Given the description of an element on the screen output the (x, y) to click on. 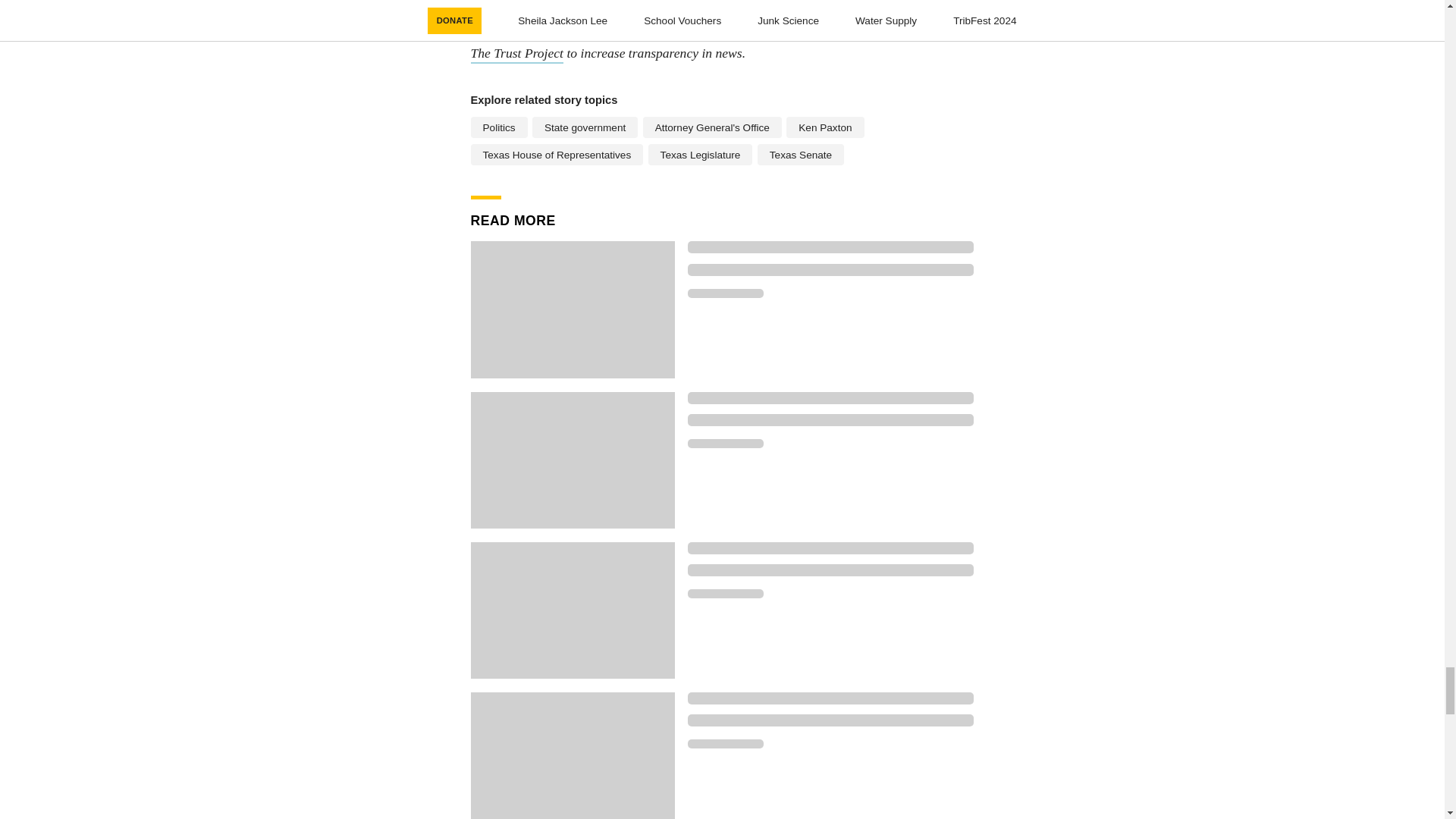
Loading indicator (830, 720)
Loading indicator (830, 269)
Loading indicator (724, 593)
Loading indicator (830, 698)
Loading indicator (830, 397)
Loading indicator (830, 548)
Loading indicator (724, 442)
Loading indicator (724, 743)
Loading indicator (724, 293)
Loading indicator (830, 570)
